Given the description of an element on the screen output the (x, y) to click on. 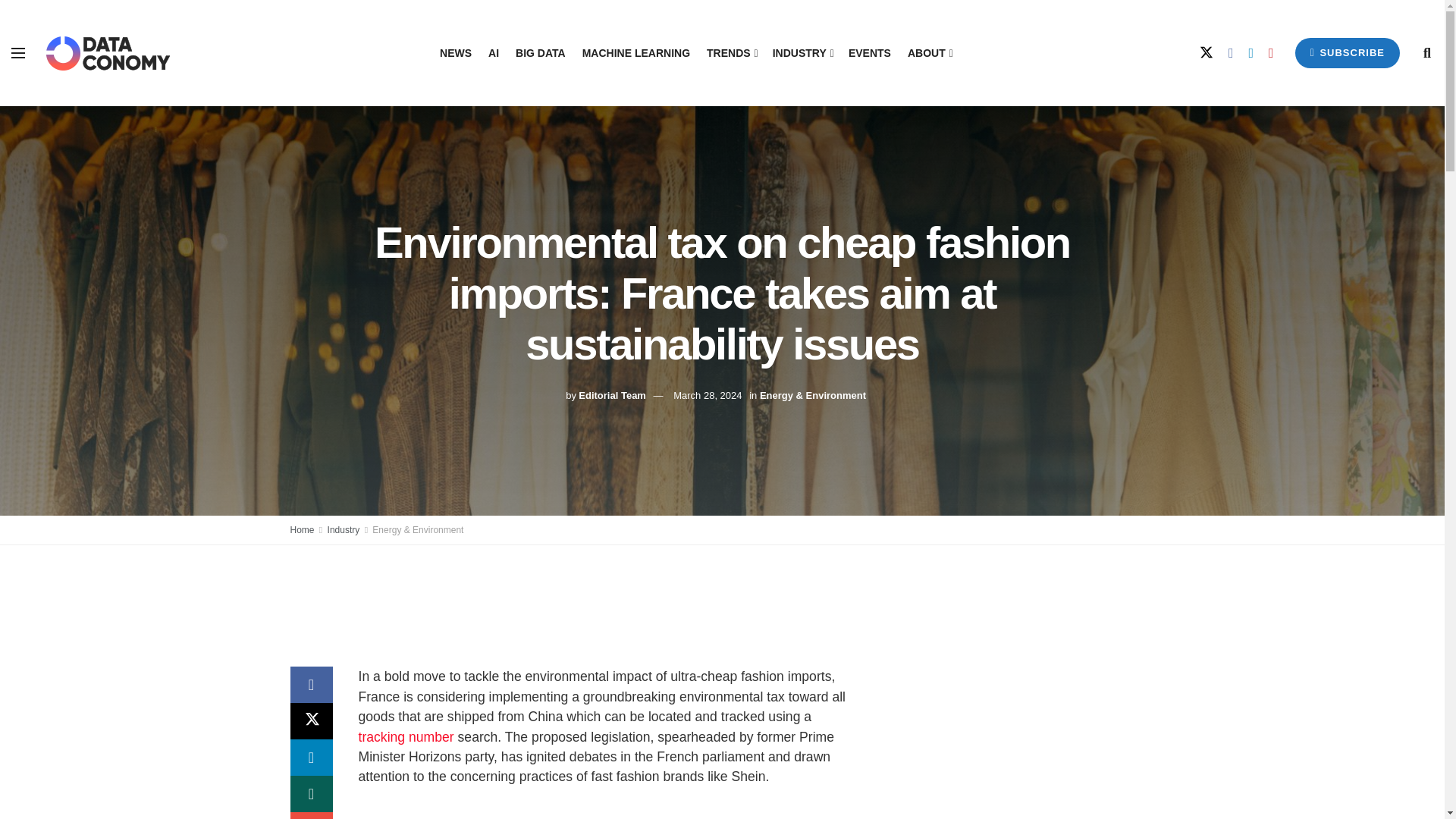
SUBSCRIBE (1347, 52)
TRENDS (730, 52)
INDUSTRY (802, 52)
BIG DATA (540, 52)
ABOUT (928, 52)
MACHINE LEARNING (636, 52)
NEWS (455, 52)
EVENTS (869, 52)
